Given the description of an element on the screen output the (x, y) to click on. 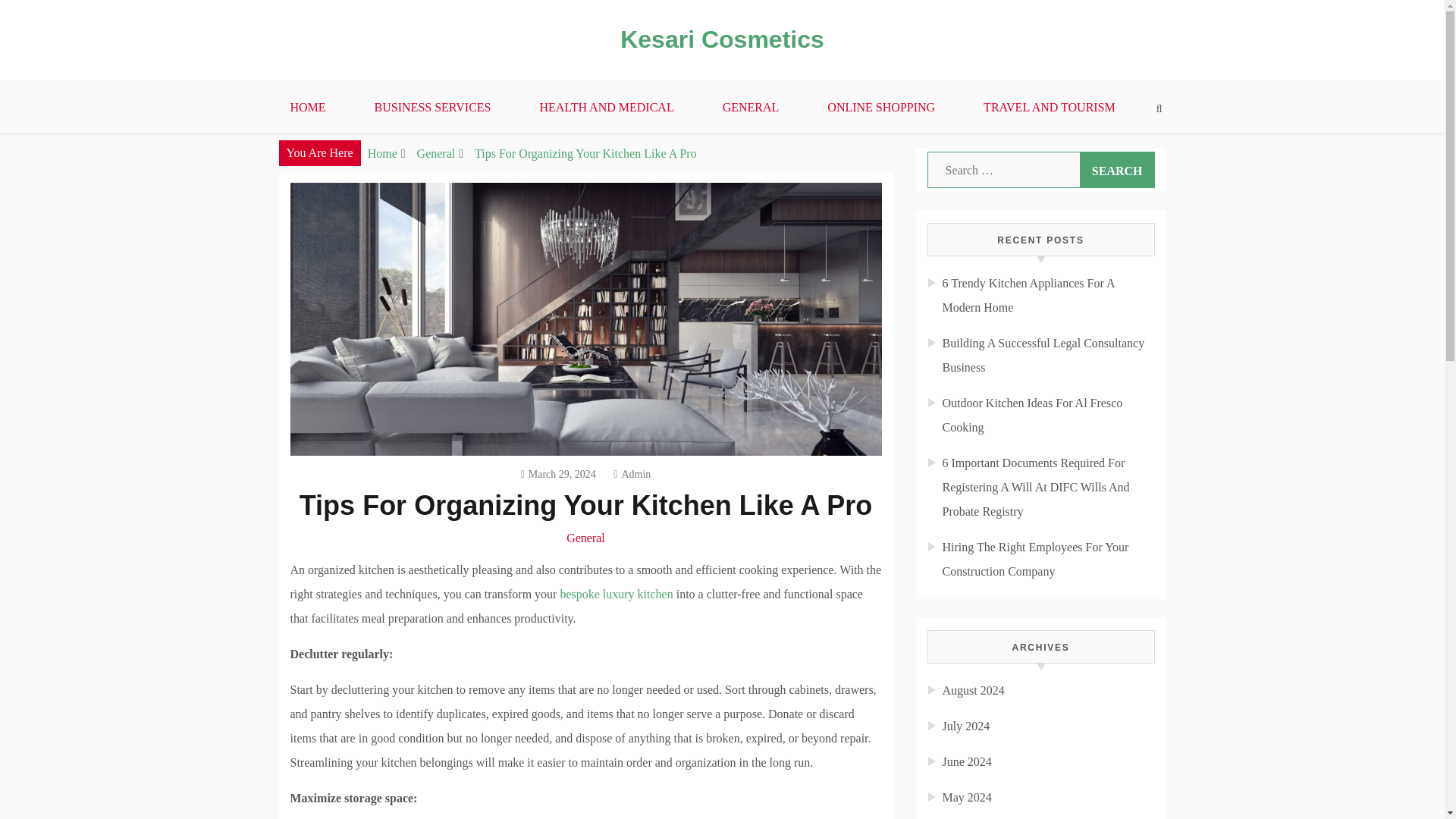
bespoke luxury kitchen (615, 594)
Home (382, 153)
Search (1117, 169)
June 2024 (966, 761)
August 2024 (973, 689)
GENERAL (751, 107)
March 29, 2024 (558, 473)
Hiring The Right Employees For Your Construction Company (1035, 559)
HOME (306, 107)
